Given the description of an element on the screen output the (x, y) to click on. 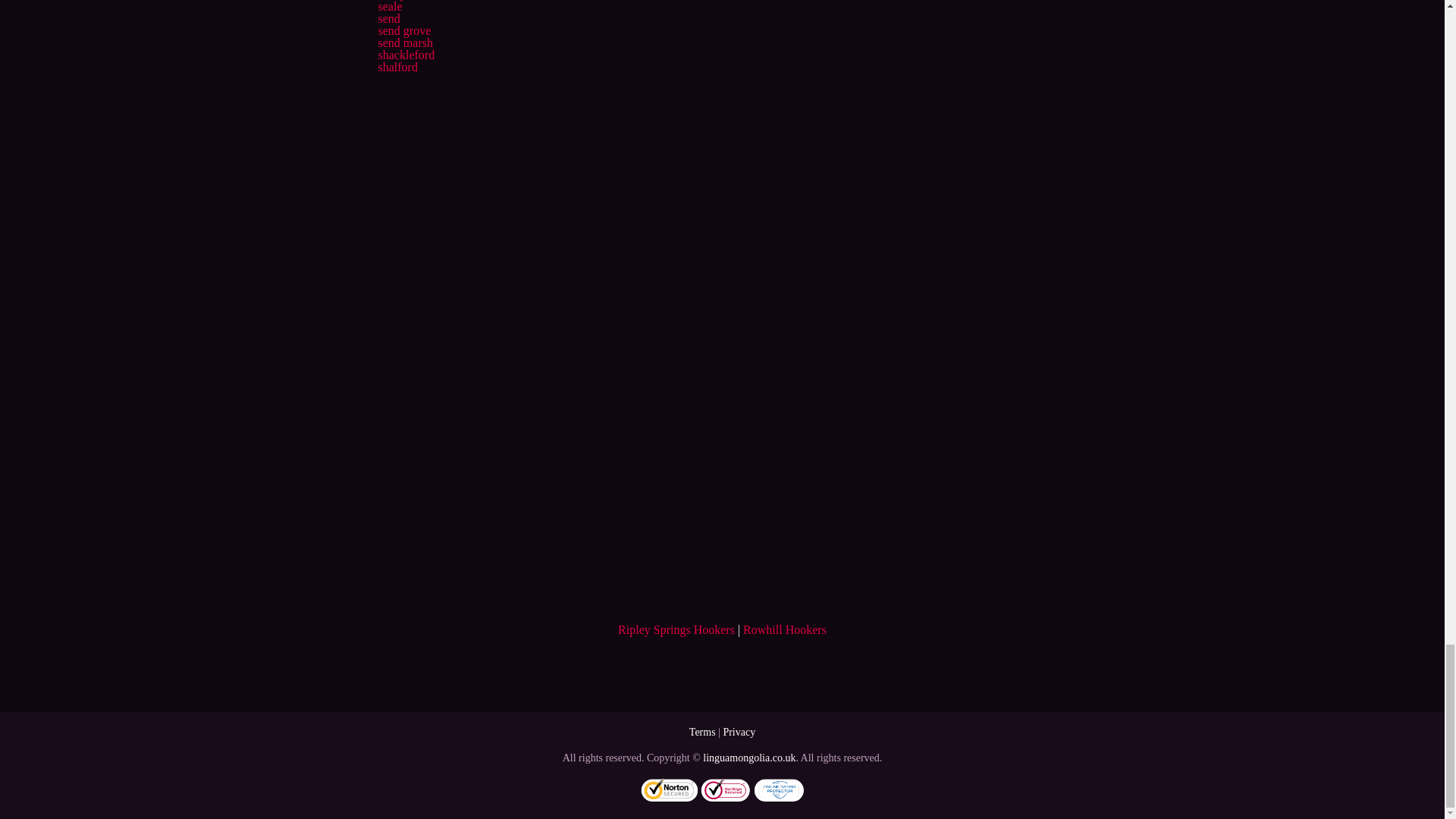
send grove (403, 30)
send marsh (404, 42)
linguamongolia.co.uk (748, 757)
Terms (702, 731)
send (387, 18)
Ripley Springs Hookers (676, 629)
Privacy (738, 731)
Privacy (738, 731)
Rowhill Hookers (784, 629)
shackleford (405, 54)
